Given the description of an element on the screen output the (x, y) to click on. 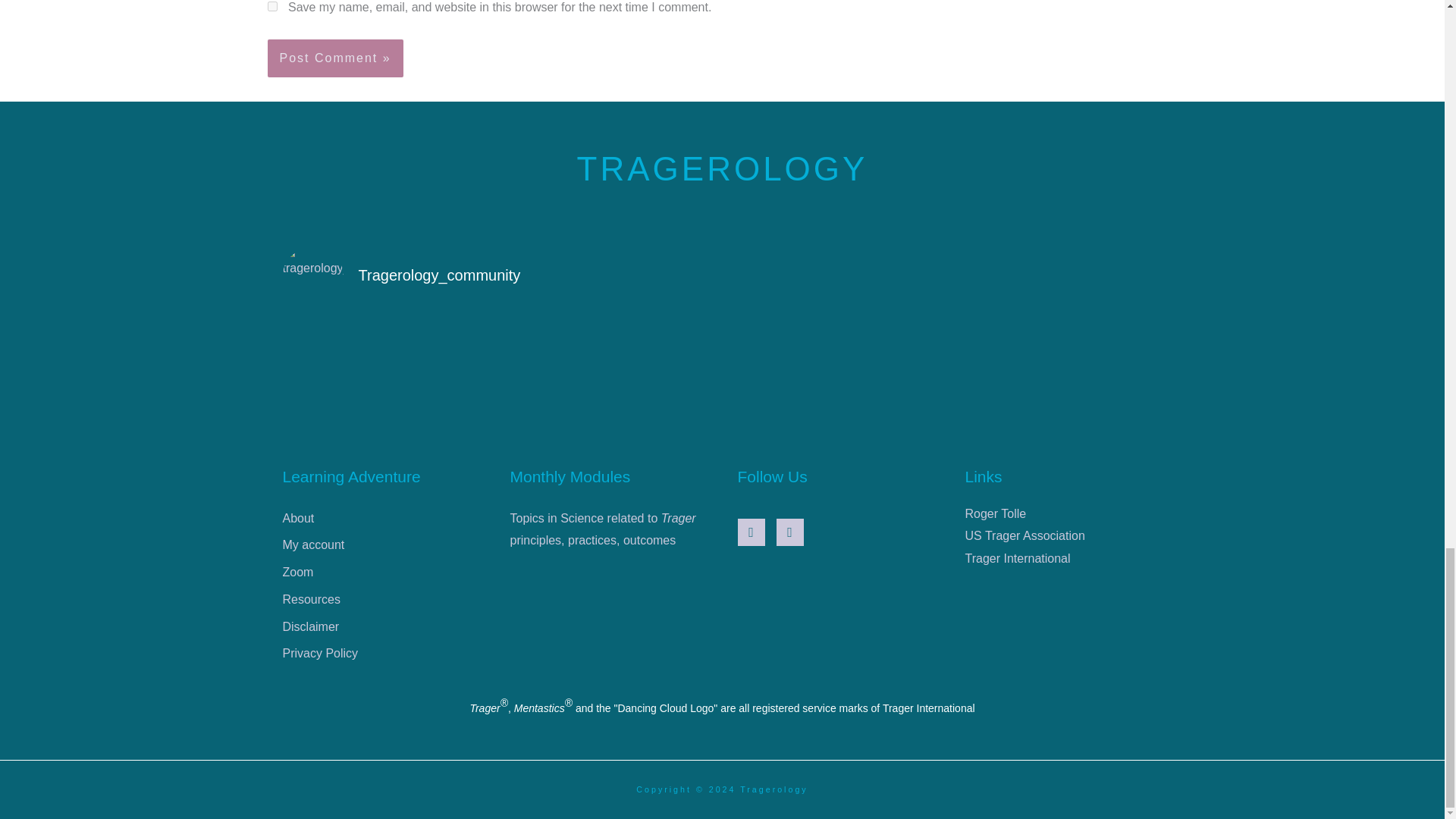
Privacy Policy (380, 655)
yes (271, 6)
About (380, 519)
Resources (380, 601)
Zoom (380, 574)
Disclaimer (380, 628)
My account (380, 546)
